Given the description of an element on the screen output the (x, y) to click on. 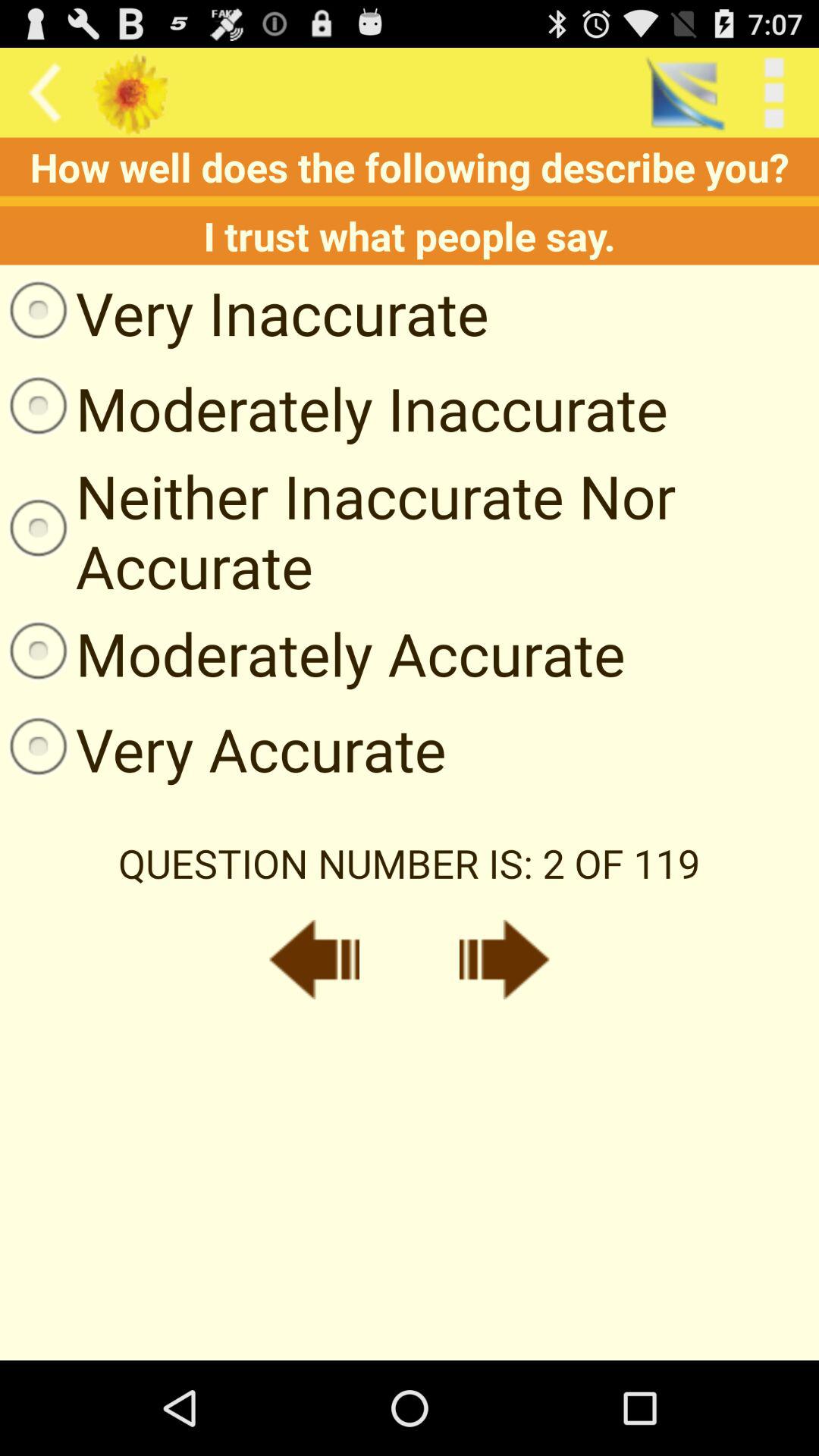
tap app to the left of < back icon (684, 92)
